Given the description of an element on the screen output the (x, y) to click on. 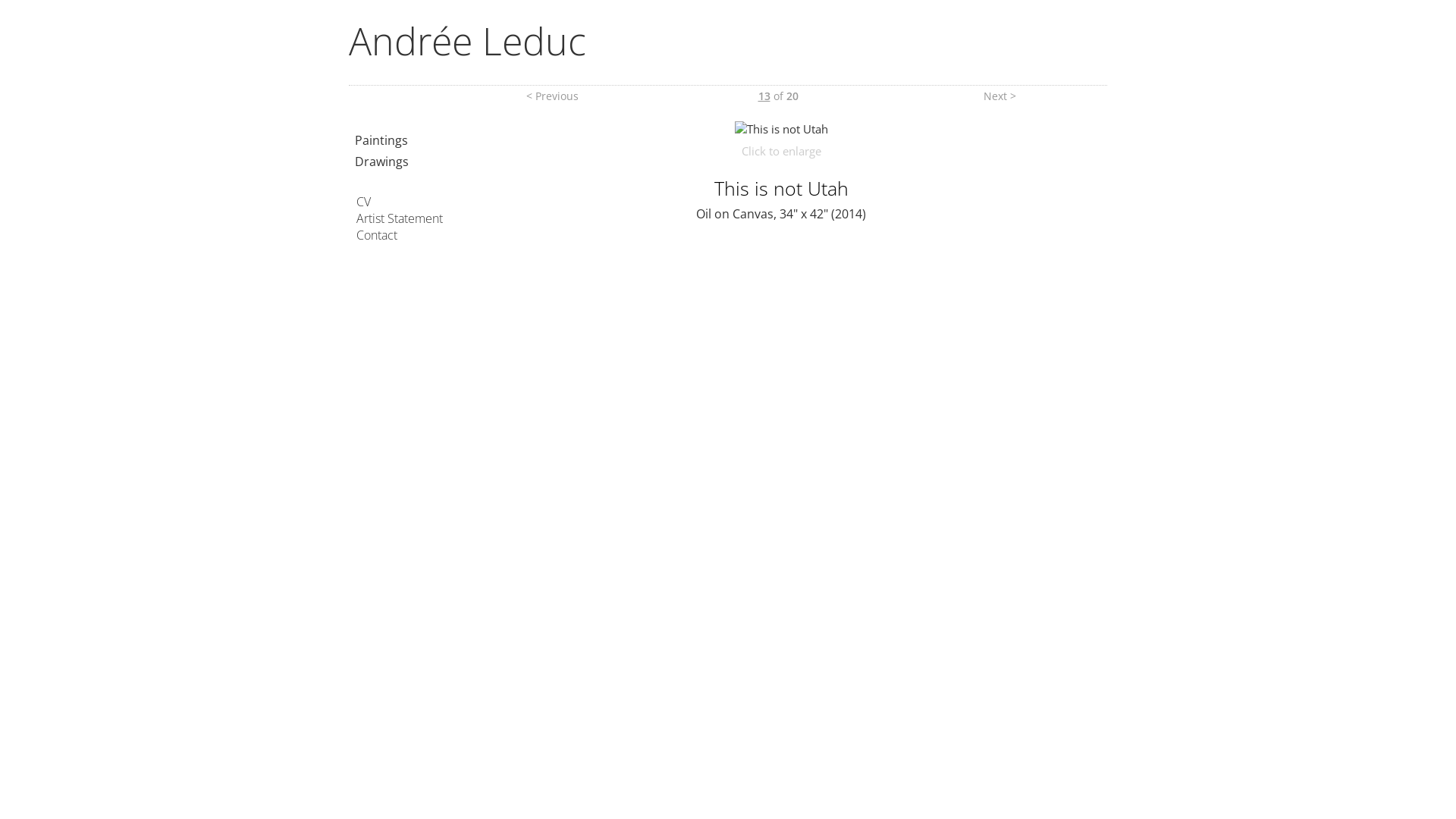
Artist Statement Element type: text (399, 218)
Paintings Element type: text (380, 139)
Next > Element type: text (999, 95)
This is not Utah Element type: hover (781, 128)
CV Element type: text (363, 201)
Drawings Element type: text (381, 161)
< Previous Element type: text (552, 95)
 This is not Utah  Element type: hover (780, 128)
Contact Element type: text (376, 234)
